Given the description of an element on the screen output the (x, y) to click on. 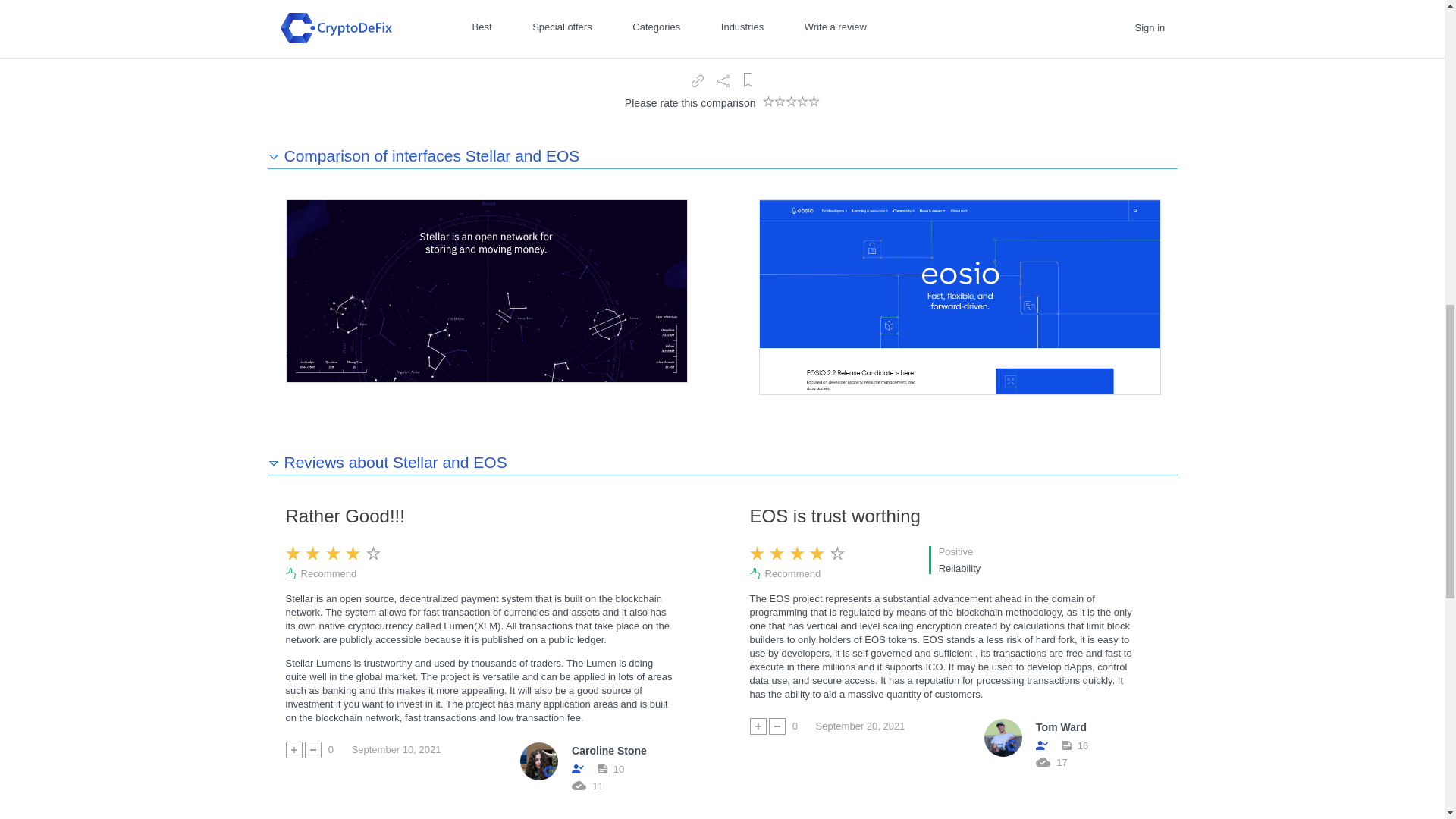
Caroline Stone (609, 751)
on (701, 22)
5 (771, 64)
September 10, 2021 (396, 749)
3 (771, 64)
4 (771, 64)
2 (771, 64)
1 (771, 64)
